Given the description of an element on the screen output the (x, y) to click on. 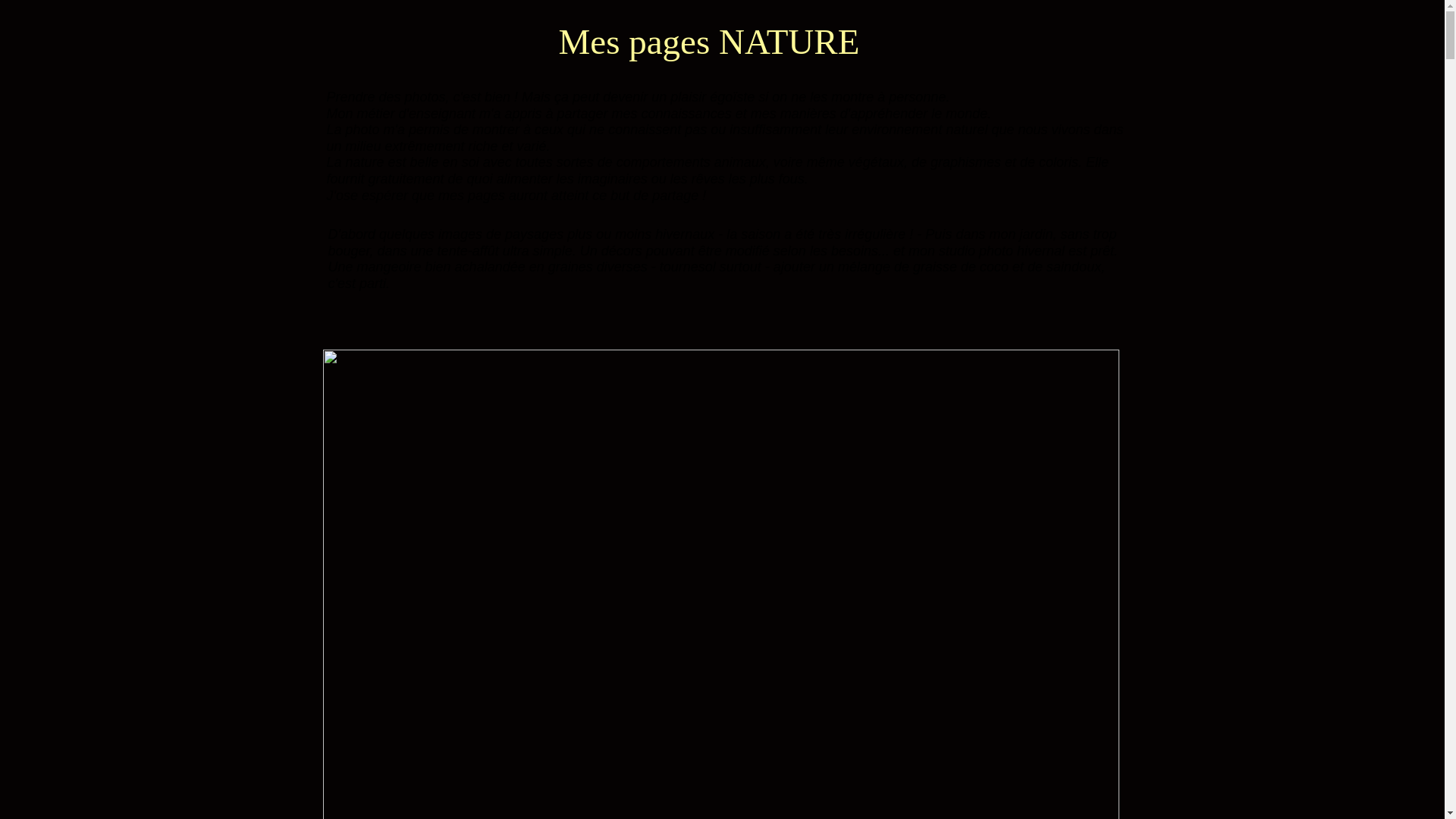
Mes pages NATURE Element type: text (708, 41)
